Given the description of an element on the screen output the (x, y) to click on. 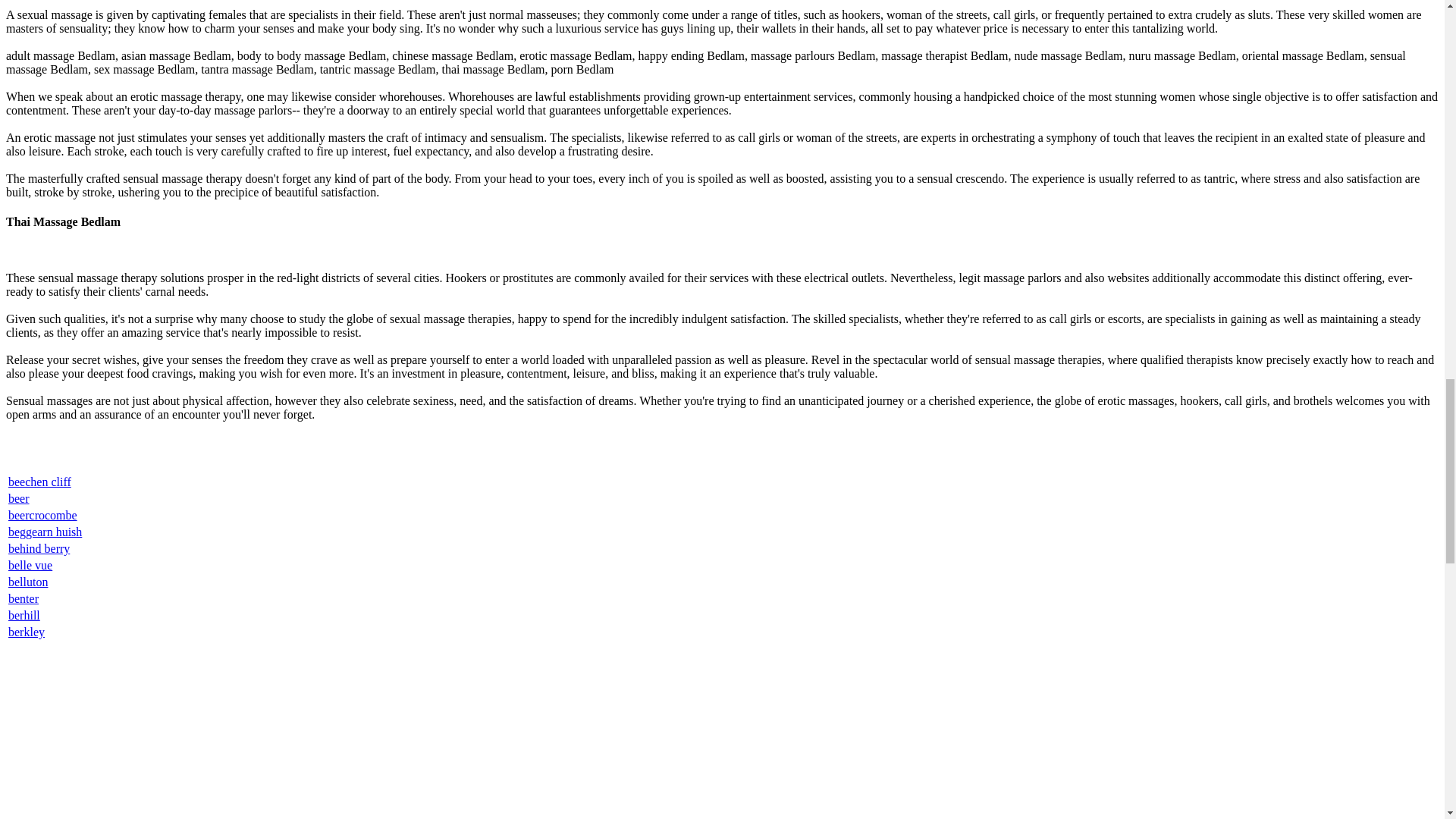
behind berry (38, 548)
beggearn huish (44, 531)
berkley (26, 631)
belle vue (30, 564)
beer (18, 498)
berhill (24, 615)
benter (23, 598)
belluton (28, 581)
beercrocombe (42, 514)
beechen cliff (39, 481)
